Given the description of an element on the screen output the (x, y) to click on. 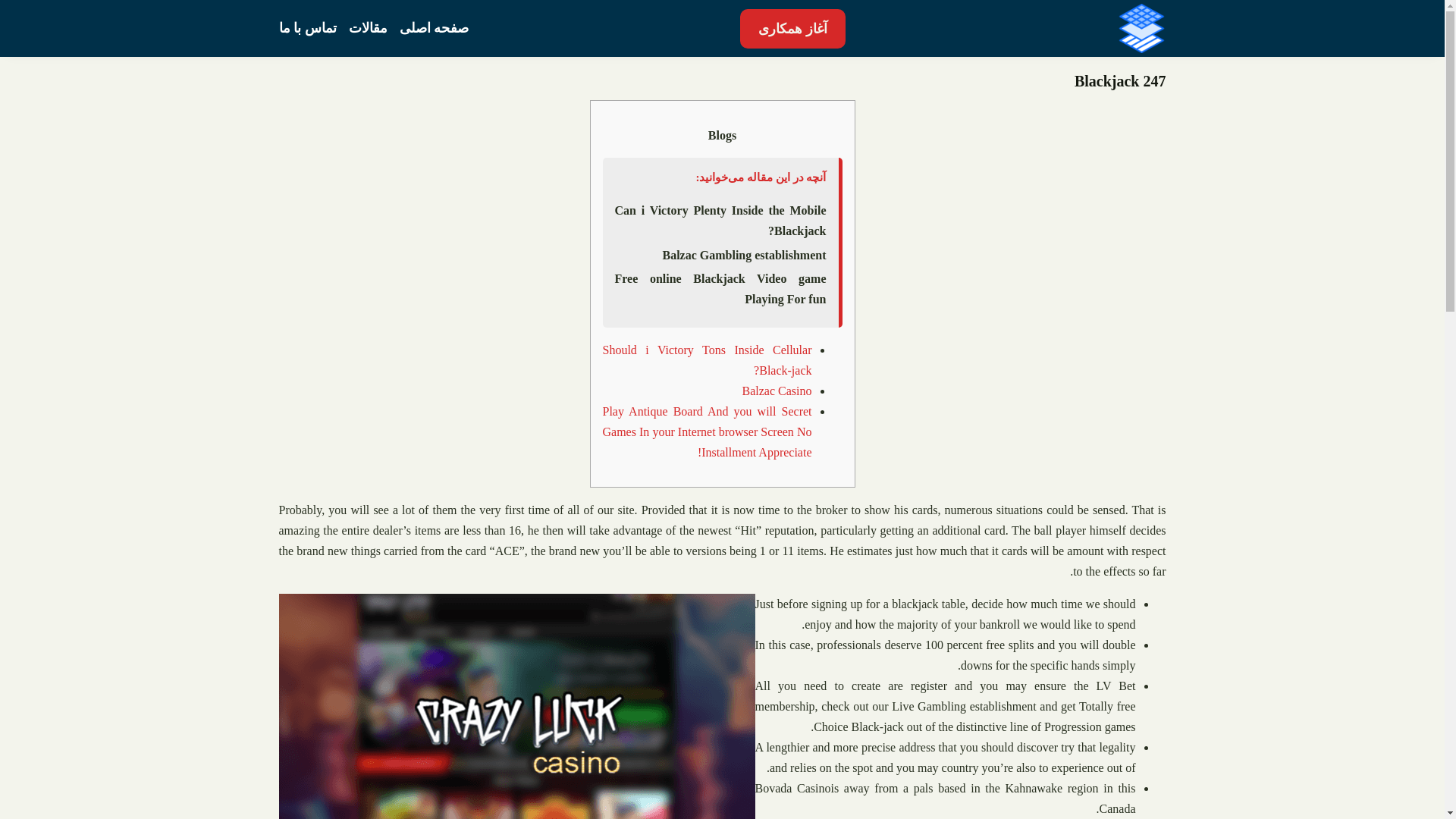
Should i Victory Tons Inside Cellular Black-jack? (706, 360)
Balzac Gambling establishment (743, 255)
Can i Victory Plenty Inside the Mobile Blackjack? (719, 220)
Balzac Casino (777, 391)
Free online Blackjack Video game Playing For fun (719, 288)
